Given the description of an element on the screen output the (x, y) to click on. 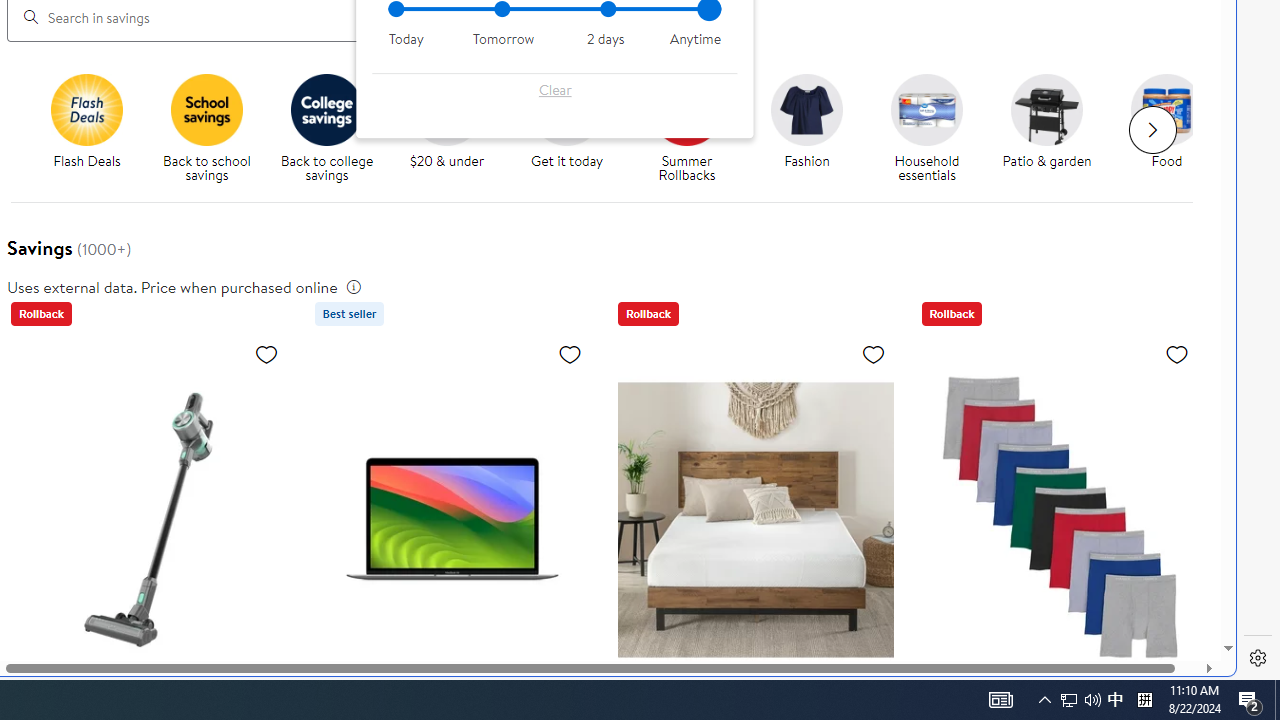
Fashion (815, 128)
Household essentials (934, 128)
Flash Deals (94, 128)
Household essentials Household essentials (927, 128)
Get it today Get it today (566, 122)
Flash deals (86, 109)
Back to school savings (214, 128)
Food Food (1166, 122)
Fashion (806, 109)
legal information (353, 286)
Back to College savings Back to college savings (326, 128)
Food (1167, 109)
Summer Rollbacks Summer Rollbacks (686, 128)
Flash deals Flash Deals (86, 122)
